Given the description of an element on the screen output the (x, y) to click on. 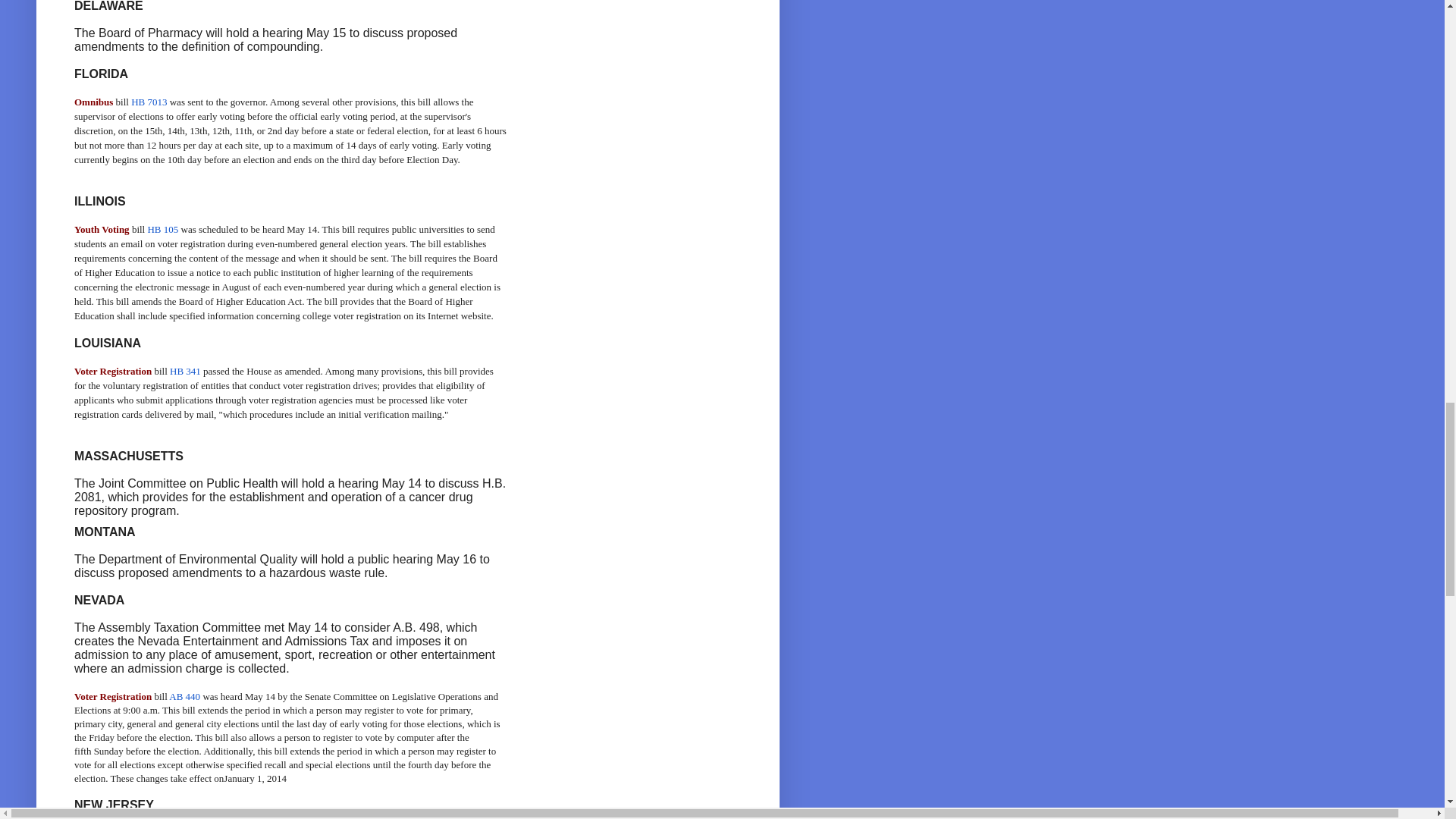
AB 440 (184, 696)
HB 105 (162, 229)
HB 7013 (149, 101)
HB 341 (185, 370)
